Given the description of an element on the screen output the (x, y) to click on. 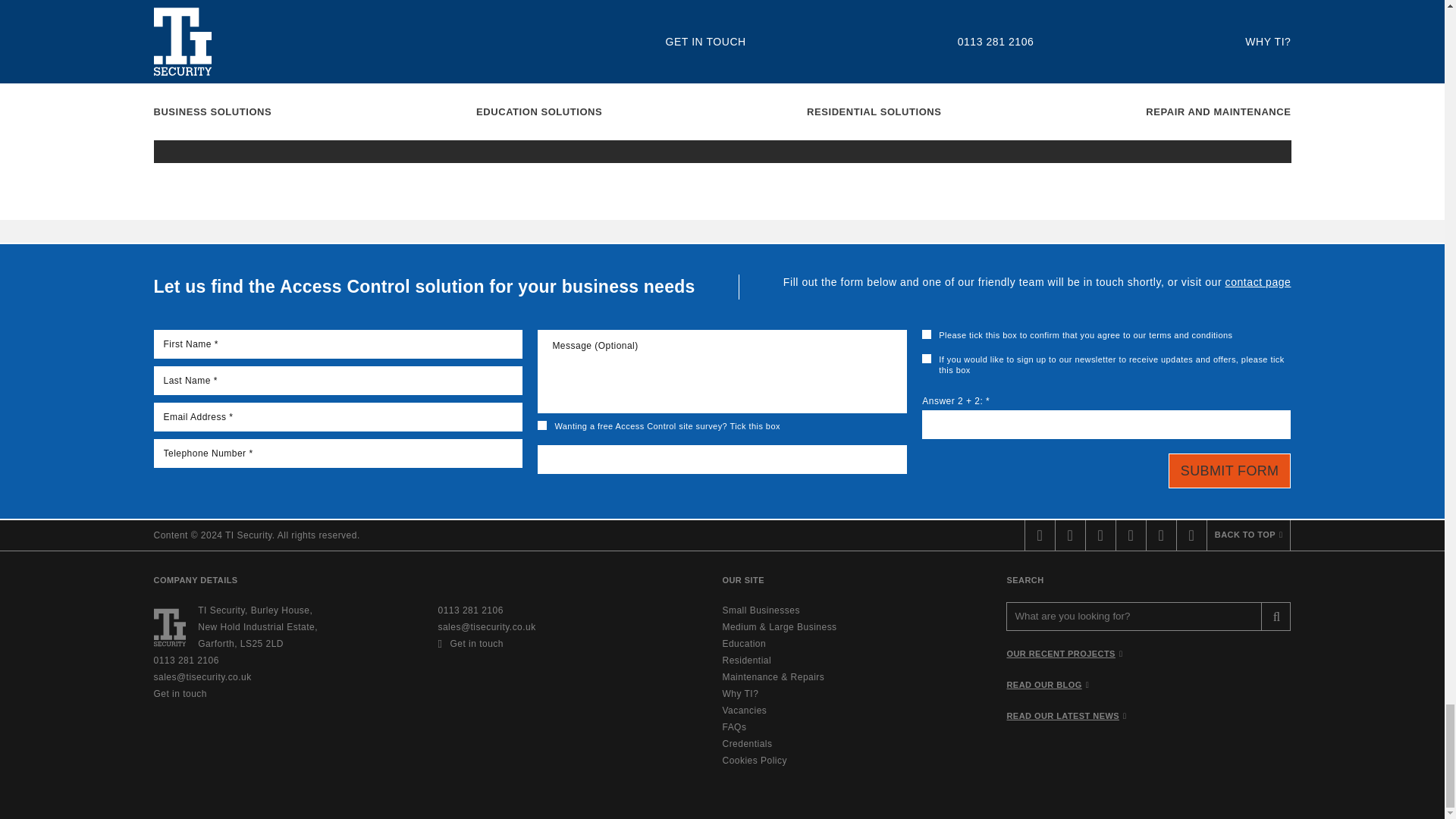
Wanting a free site survey? Tick this box (542, 424)
